Given the description of an element on the screen output the (x, y) to click on. 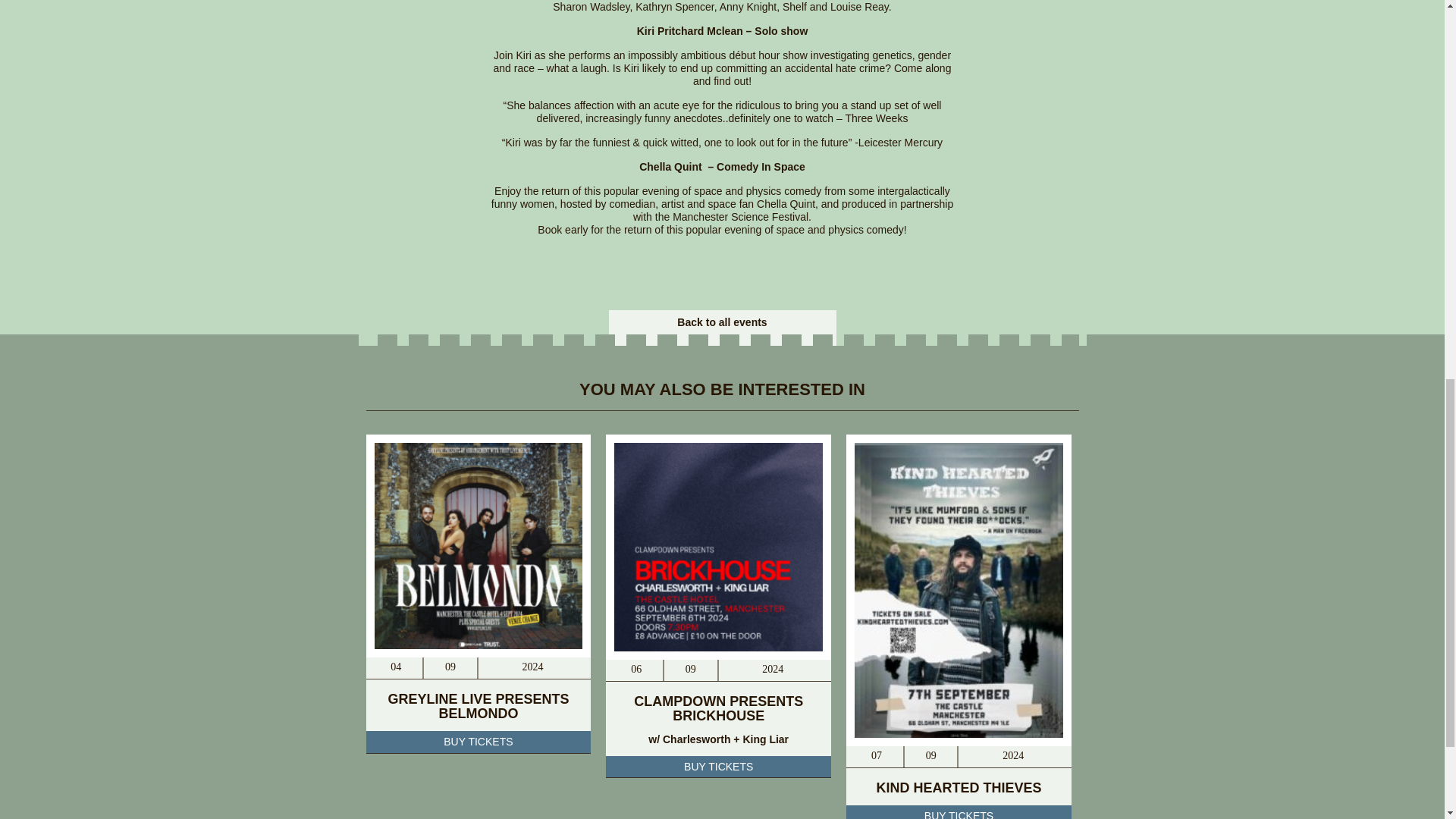
CLAMPDOWN PRESENTS BRICKHOUSE (718, 708)
GREYLINE LIVE PRESENTS BELMONDO (478, 706)
Back to all events (722, 322)
BUY TICKETS (478, 742)
BUY TICKETS (718, 766)
KIND HEARTED THIEVES (958, 787)
BUY TICKETS (958, 812)
